Given the description of an element on the screen output the (x, y) to click on. 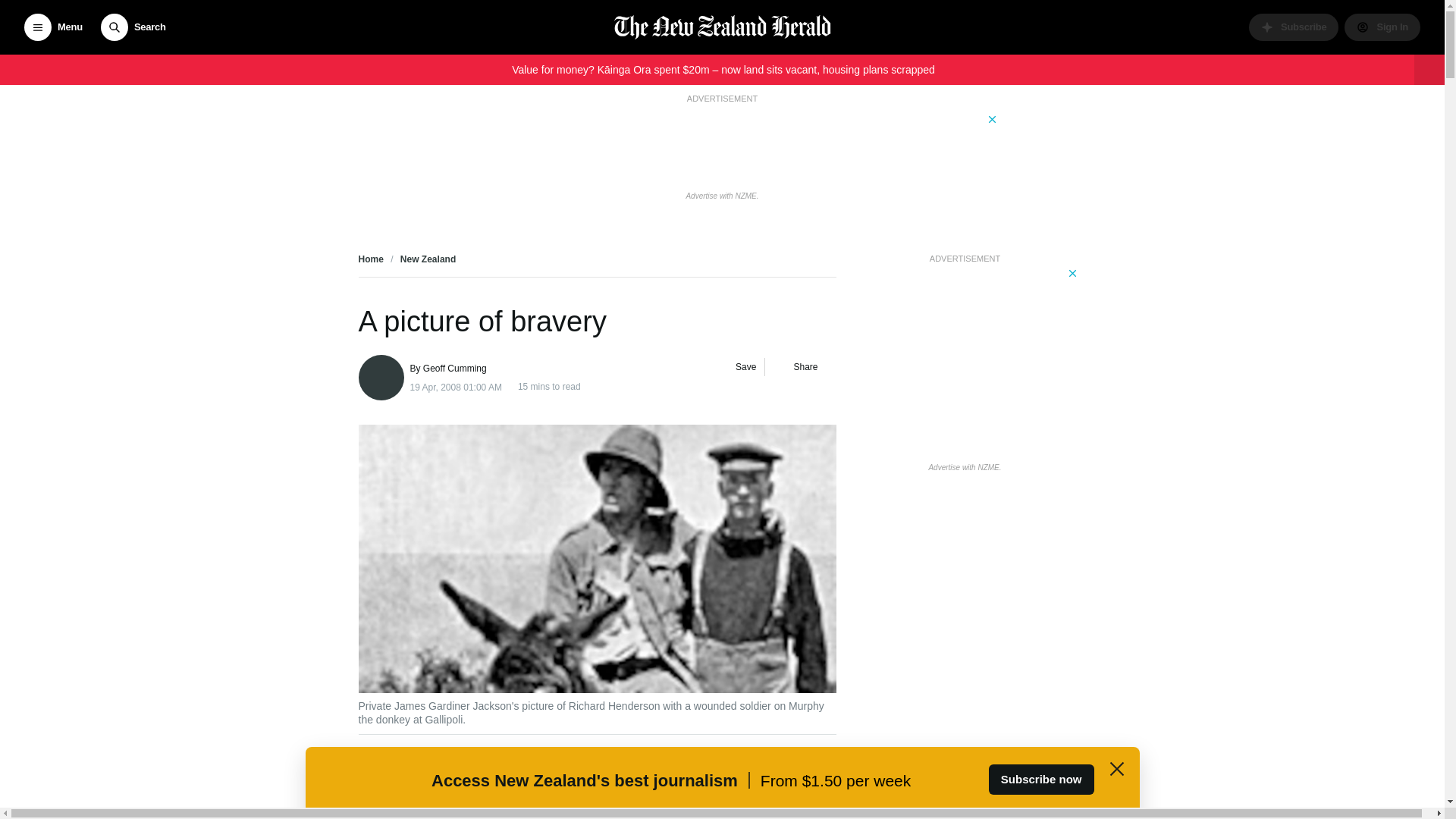
Search (132, 26)
3rd party ad content (964, 361)
Subscribe (1294, 26)
Manage your account (1382, 26)
Sign In (1382, 26)
Menu (53, 26)
3rd party ad content (721, 146)
